Given the description of an element on the screen output the (x, y) to click on. 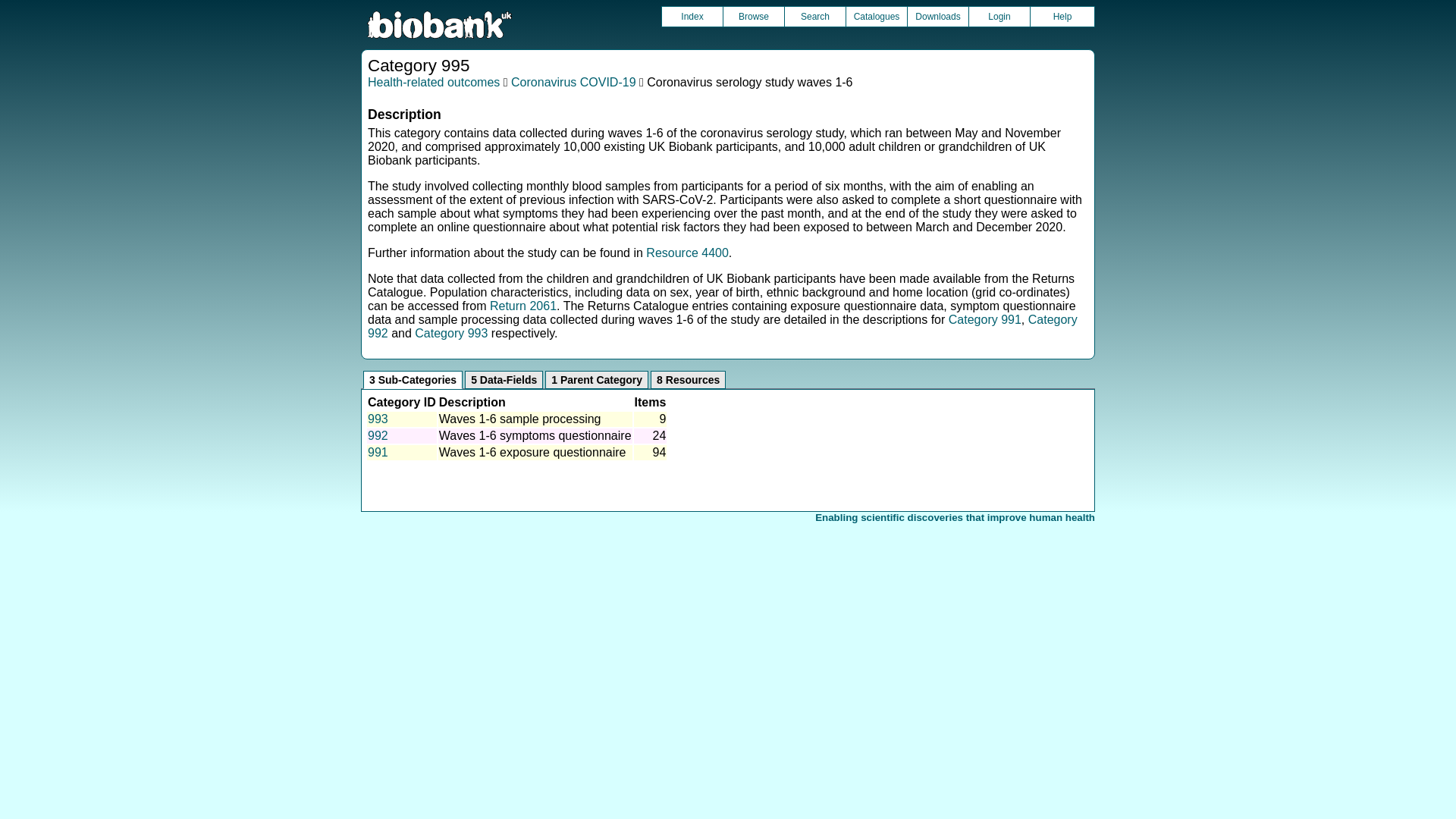
Downloads (937, 16)
Help (1062, 16)
Index (692, 16)
993 (378, 418)
Coronavirus COVID-19 (573, 82)
Waves 1-6 exposure questionnaire (532, 451)
3 Sub-Categories (412, 380)
Category 991 (985, 318)
991 (378, 451)
Return 2061 (522, 305)
Category 992 (722, 325)
Login (999, 16)
992 (378, 435)
Waves 1-6 symptoms questionnaire (535, 435)
1 Parent Category (595, 380)
